Given the description of an element on the screen output the (x, y) to click on. 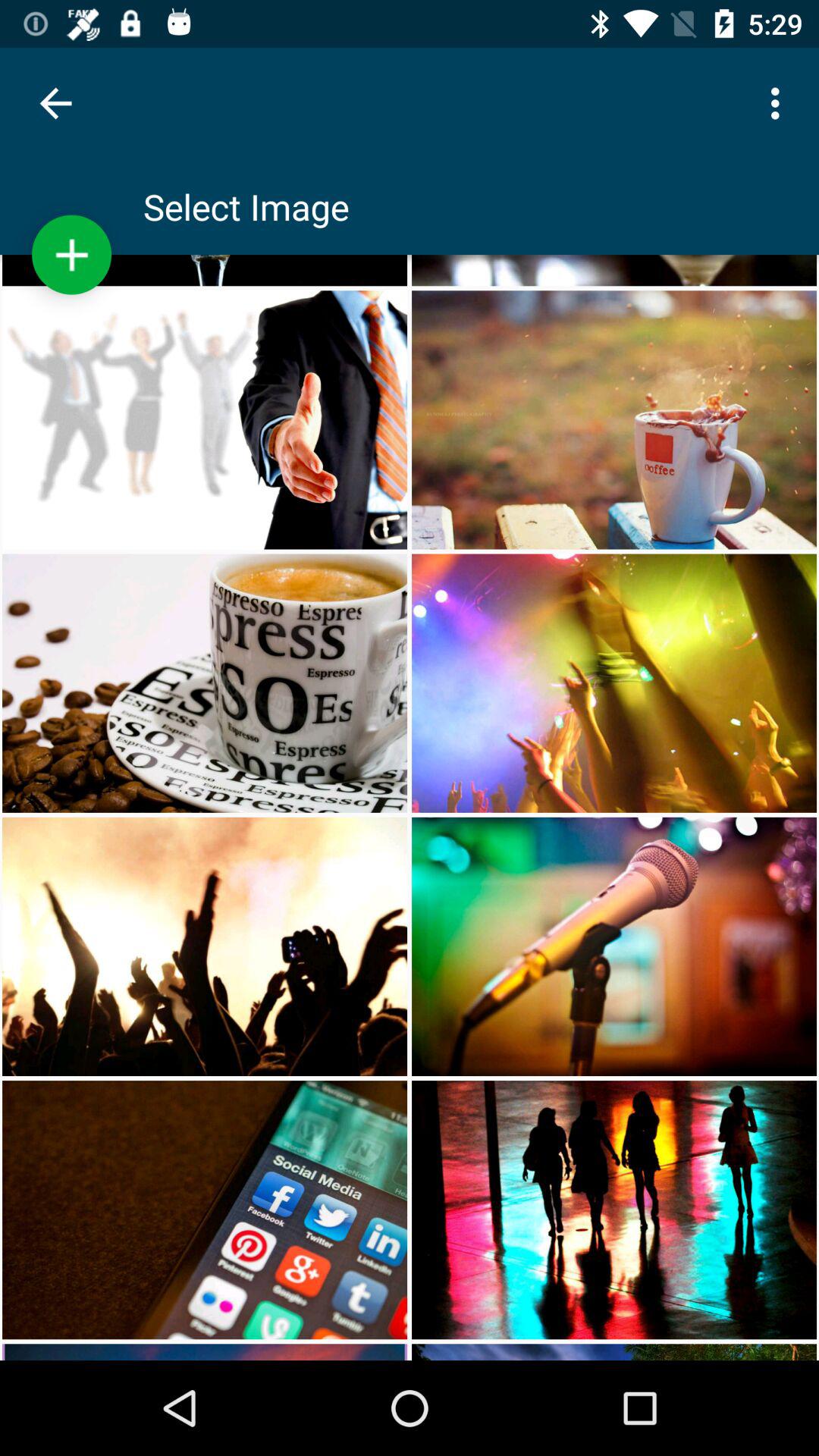
select the icon above select image icon (779, 103)
